Given the description of an element on the screen output the (x, y) to click on. 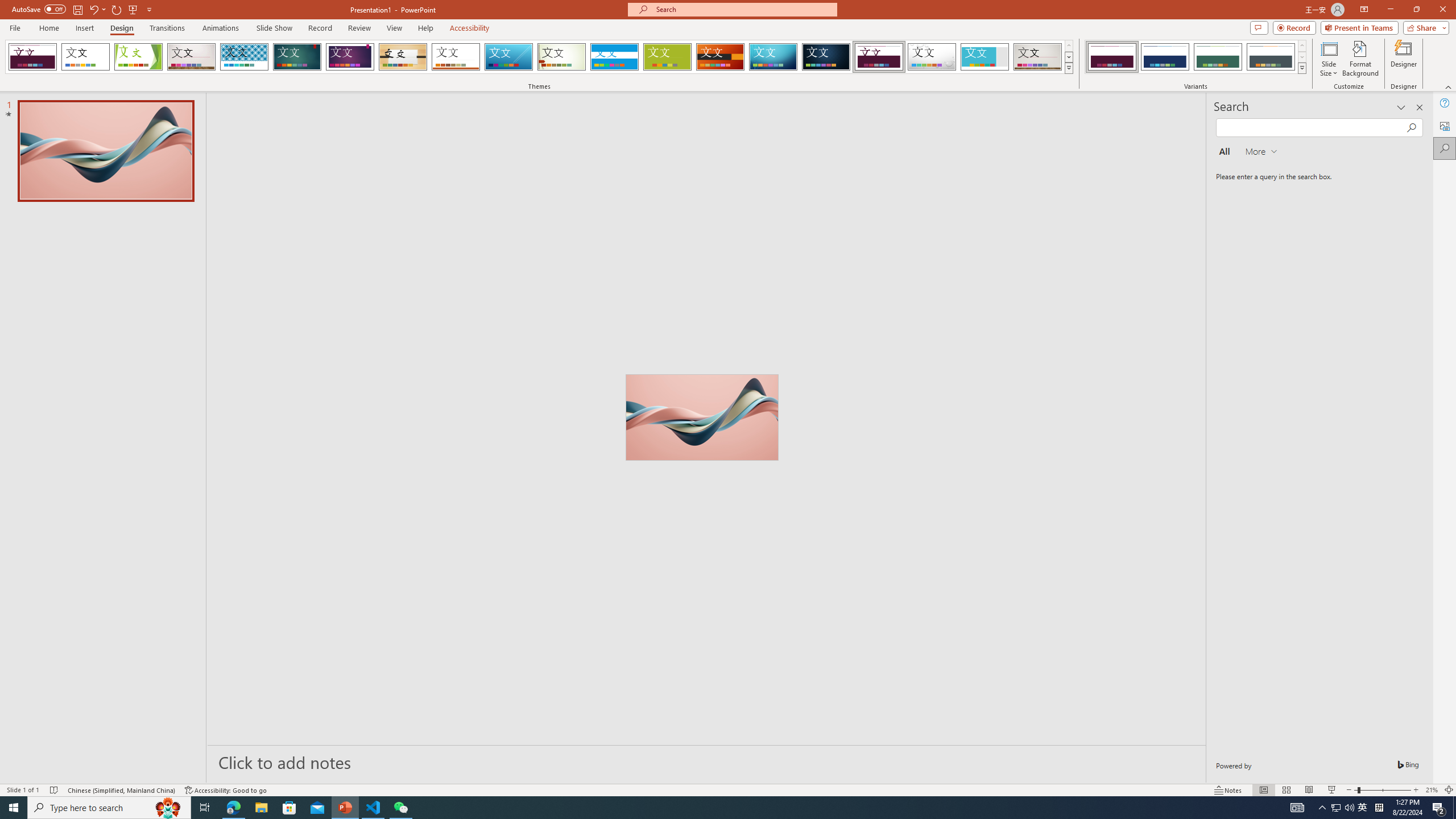
Slice (508, 56)
Basis (667, 56)
Themes (1068, 67)
Wisp (561, 56)
Dividend Variant 1 (1112, 56)
Dividend Variant 3 (1217, 56)
